Given the description of an element on the screen output the (x, y) to click on. 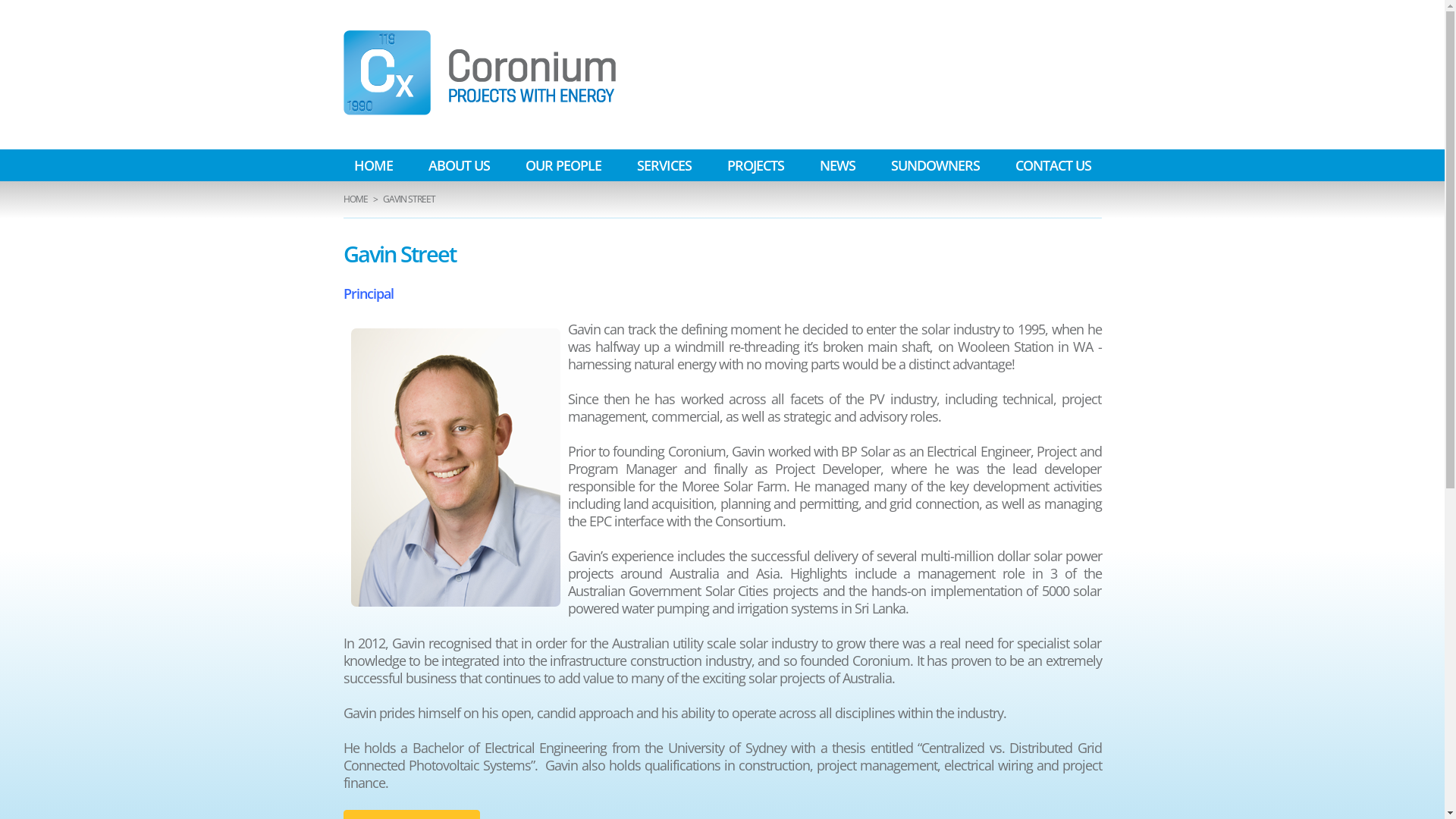
SUNDOWNERS Element type: text (934, 165)
ABOUT US Element type: text (458, 165)
Gavin Street BW Element type: hover (454, 467)
NEWS Element type: text (836, 165)
HOME Element type: text (372, 165)
PROJECTS Element type: text (754, 165)
HOME Element type: text (354, 199)
SERVICES Element type: text (664, 165)
OUR PEOPLE Element type: text (562, 165)
CONTACT US Element type: text (1052, 165)
